Given the description of an element on the screen output the (x, y) to click on. 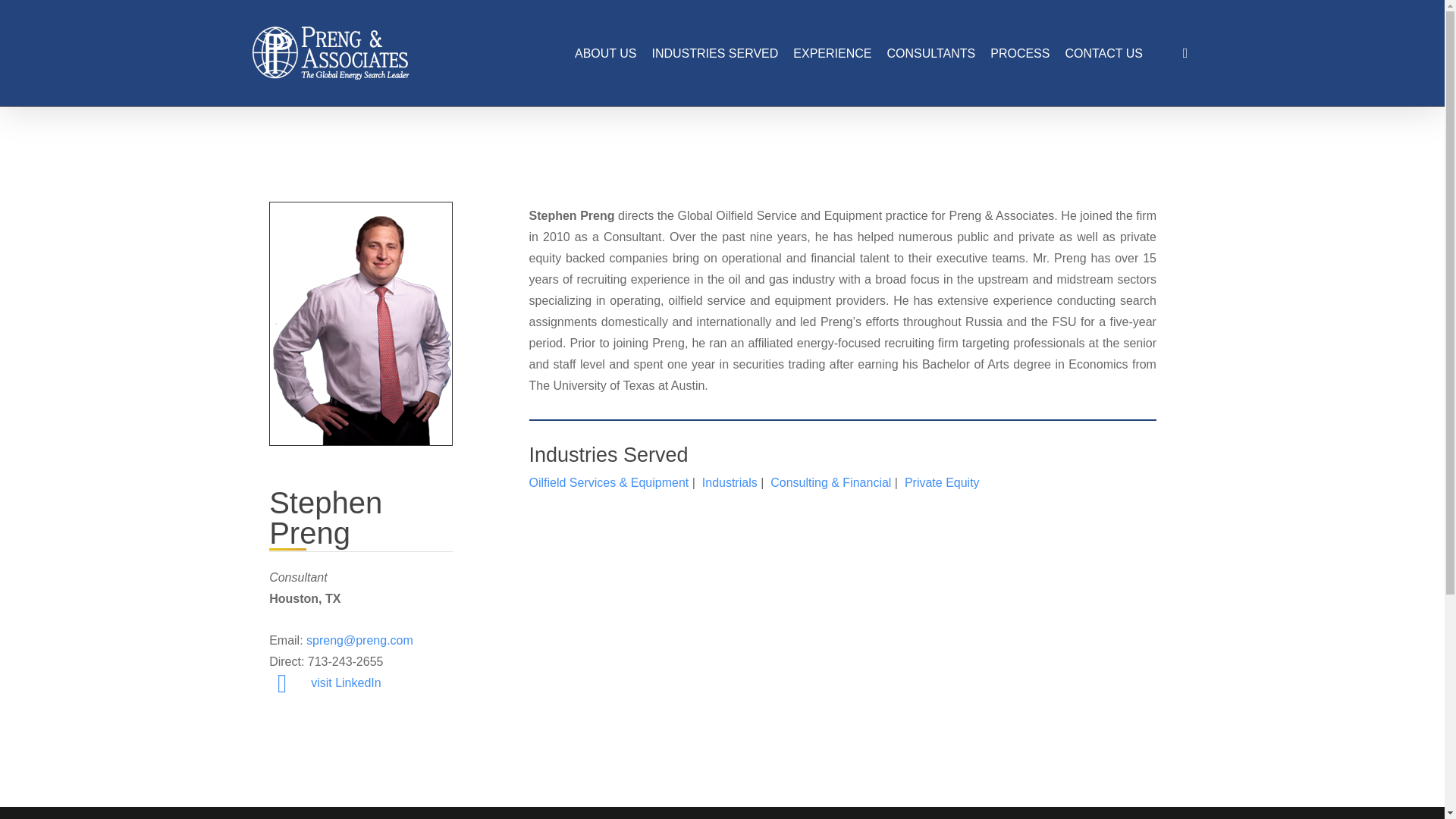
Private Equity (941, 481)
PROCESS (1019, 52)
search (1184, 52)
EXPERIENCE (831, 52)
INDUSTRIES SERVED (713, 52)
ABOUT US (606, 52)
CONSULTANTS (930, 52)
CONTACT US (1103, 52)
Industrials (729, 481)
visit LinkedIn (346, 682)
